Given the description of an element on the screen output the (x, y) to click on. 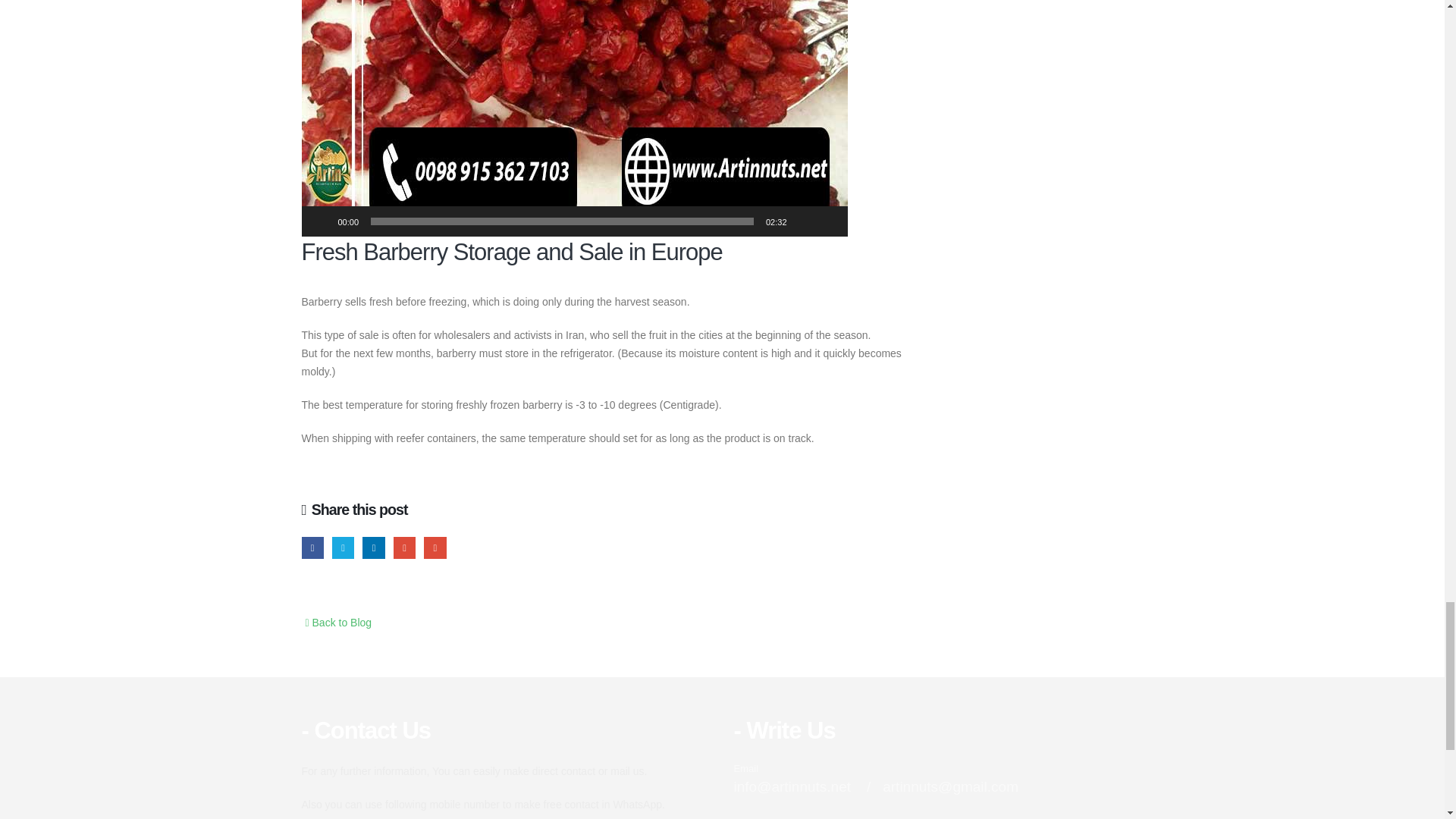
Play (321, 221)
Fullscreen (828, 221)
Mute (803, 221)
